Given the description of an element on the screen output the (x, y) to click on. 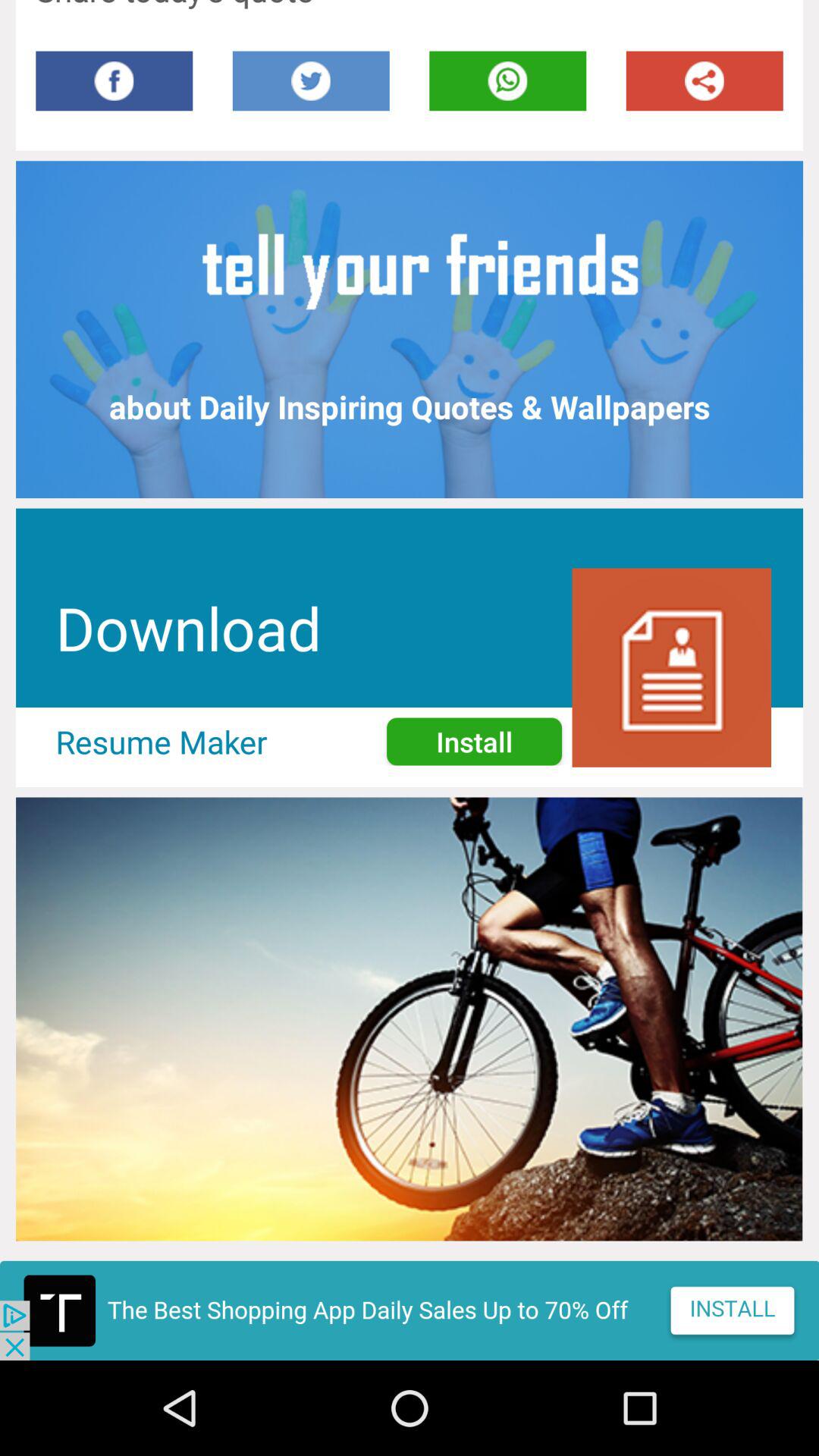
advertisement banner (409, 1310)
